Given the description of an element on the screen output the (x, y) to click on. 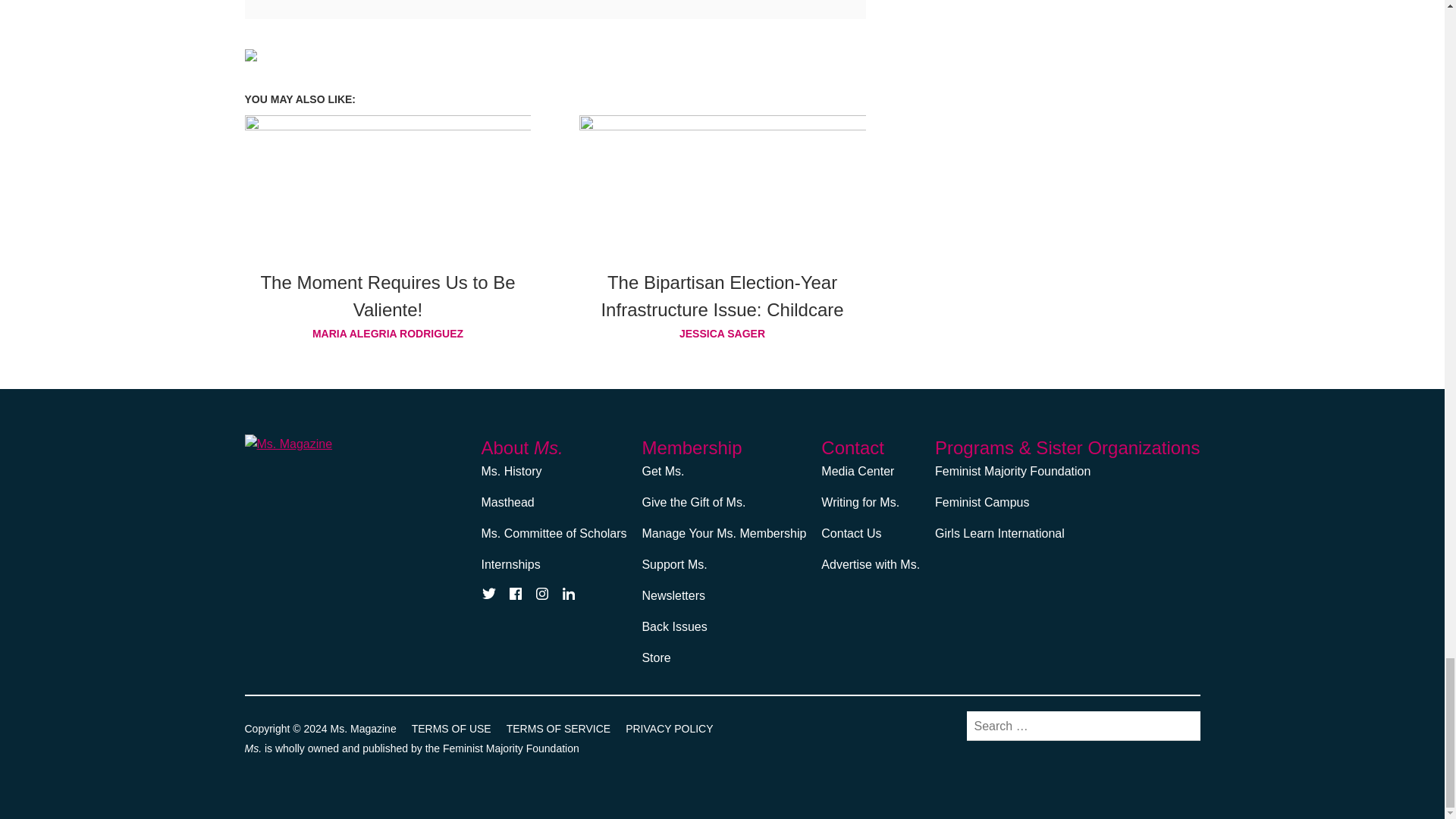
Search for: (1082, 726)
Posts by Jessica Sager (722, 333)
Search (1182, 725)
Search (1182, 725)
Permanent Link to The Moment Requires Us to Be Valiente! (387, 295)
Posts by Maria Alegria Rodriguez (387, 333)
